Given the description of an element on the screen output the (x, y) to click on. 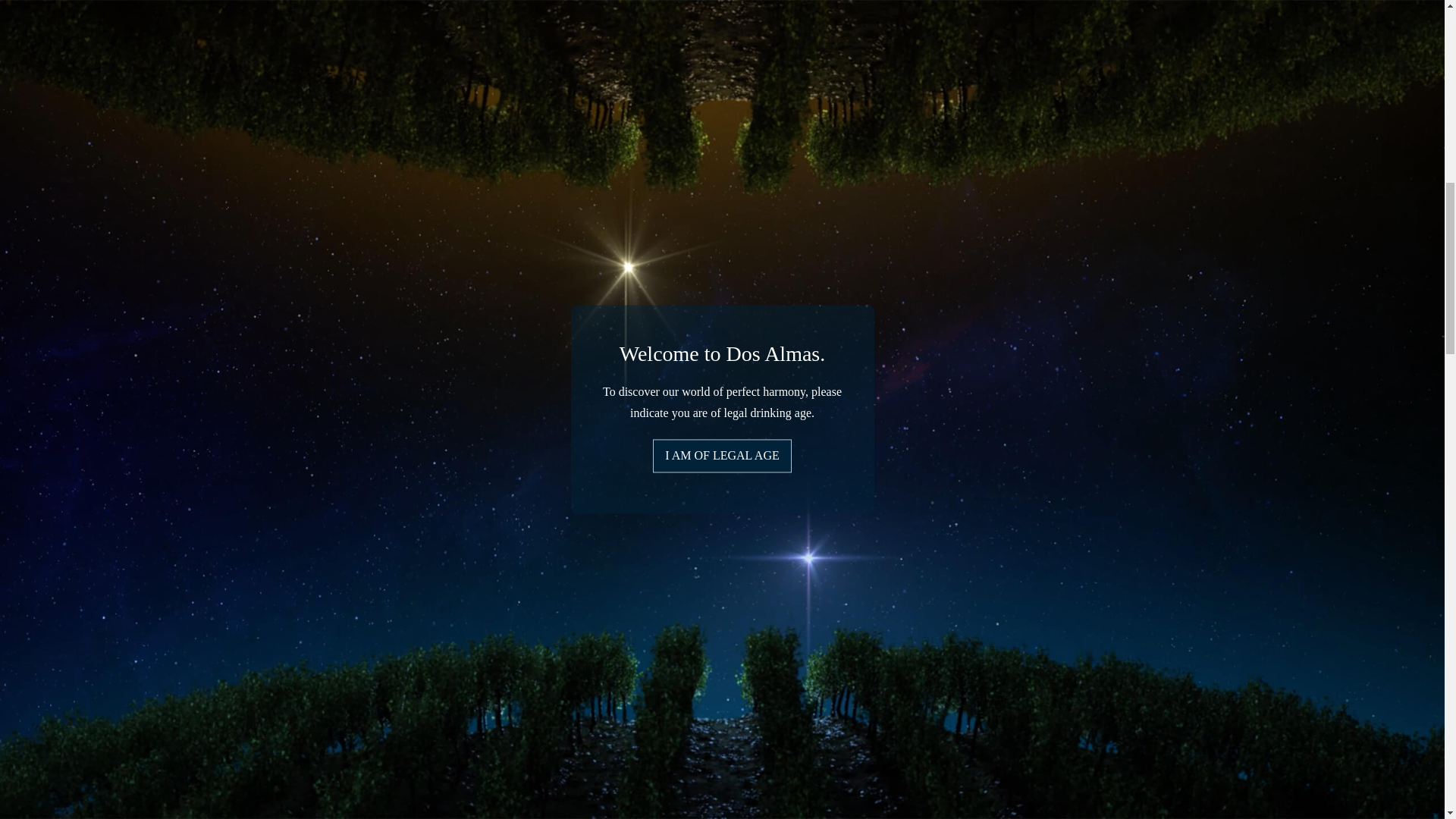
1xbet Mobile Yukle, 1xbet Proqrami Yuklemek (114, 473)
Hello world! (172, 612)
Search (234, 396)
Finest Real cash slot coyote moon Las vegas Harbors (129, 323)
A WordPress Commenter (61, 612)
Search (234, 396)
July 2024 (24, 683)
Uncategorized (82, 236)
Search (234, 396)
